Given the description of an element on the screen output the (x, y) to click on. 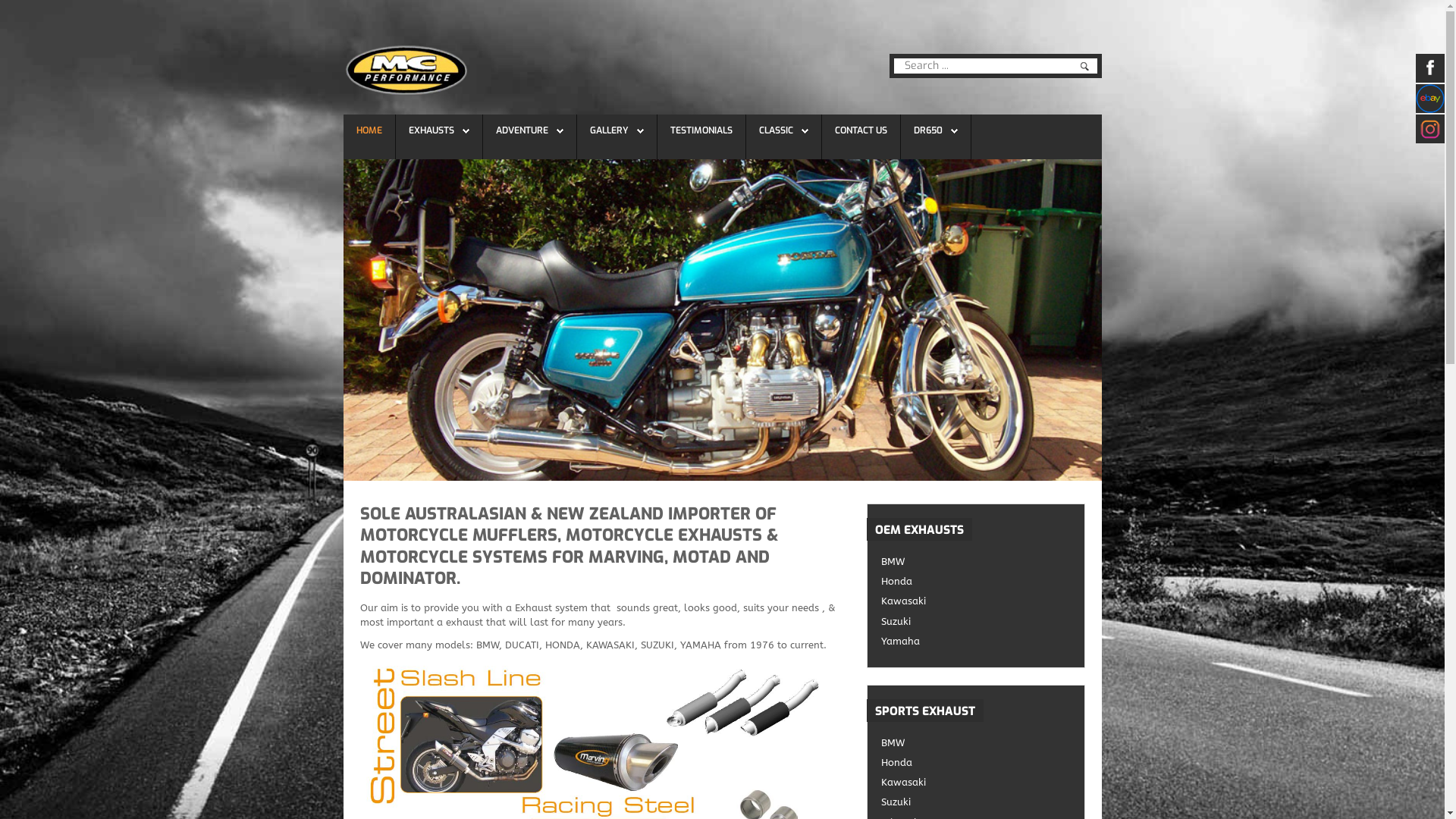
TESTIMONIALS Element type: text (701, 130)
Yamaha Element type: text (975, 640)
DR650 Element type: text (935, 130)
TESTIMONIALS Element type: text (701, 130)
Honda Element type: text (975, 581)
Suzuki Element type: text (975, 801)
ADVENTURE Element type: text (529, 130)
GALLERY Element type: text (616, 130)
EXHAUSTS Element type: text (430, 130)
HOME Element type: text (369, 130)
Suzuki Element type: text (975, 621)
HOME Element type: text (369, 130)
Honda Element type: text (975, 762)
ADVENTURE Element type: text (521, 130)
CONTACT US Element type: text (860, 130)
Kawasaki Element type: text (975, 600)
DR650 Element type: text (927, 130)
EXHAUSTS Element type: text (437, 130)
GALLERY Element type: text (608, 130)
CLASSIC Element type: text (775, 130)
BMW Element type: text (975, 742)
BMW Element type: text (975, 561)
Kawasaki Element type: text (975, 782)
CLASSIC Element type: text (782, 130)
CONTACT US Element type: text (860, 130)
